Given the description of an element on the screen output the (x, y) to click on. 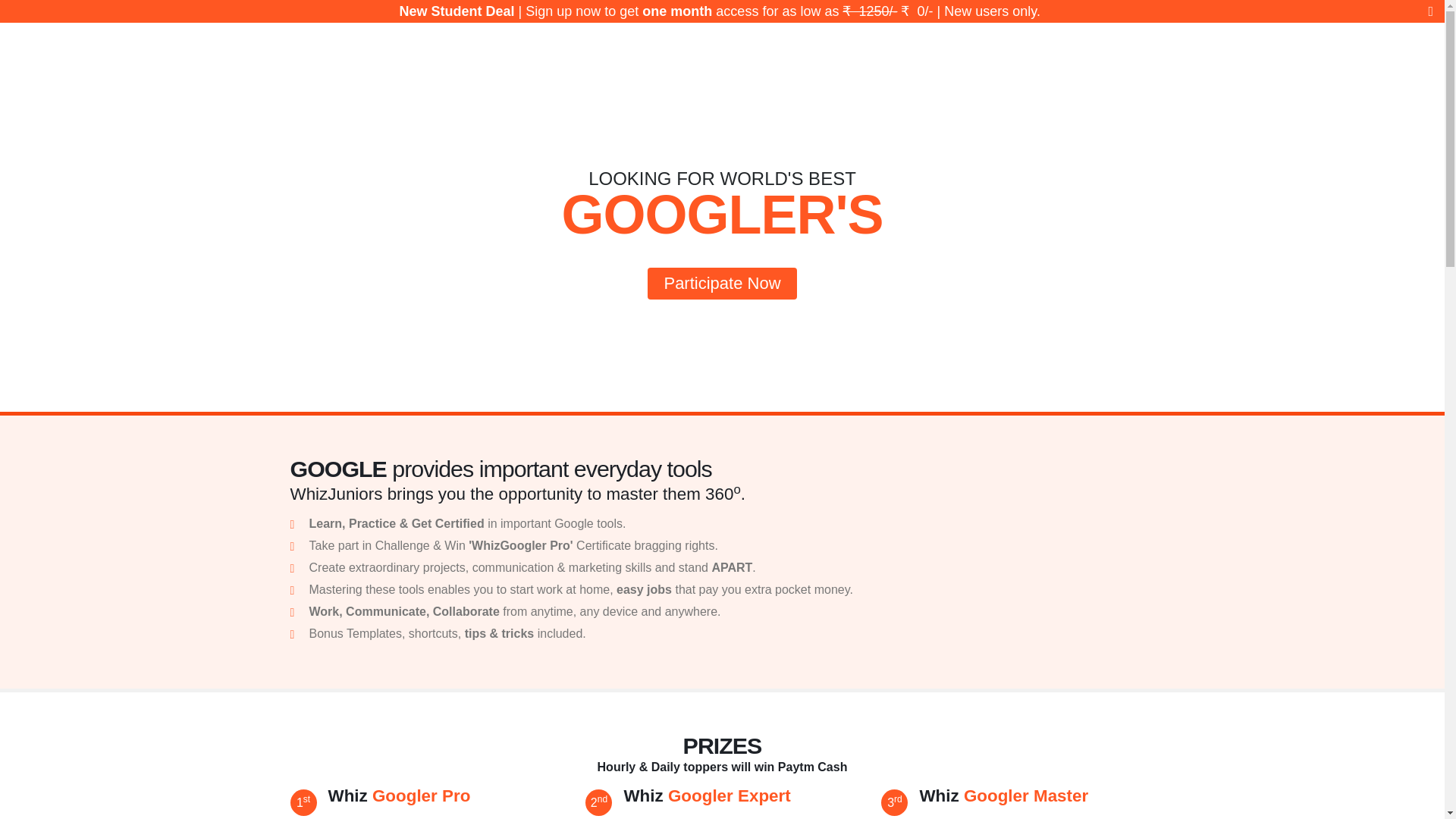
Participate Now (721, 283)
